Given the description of an element on the screen output the (x, y) to click on. 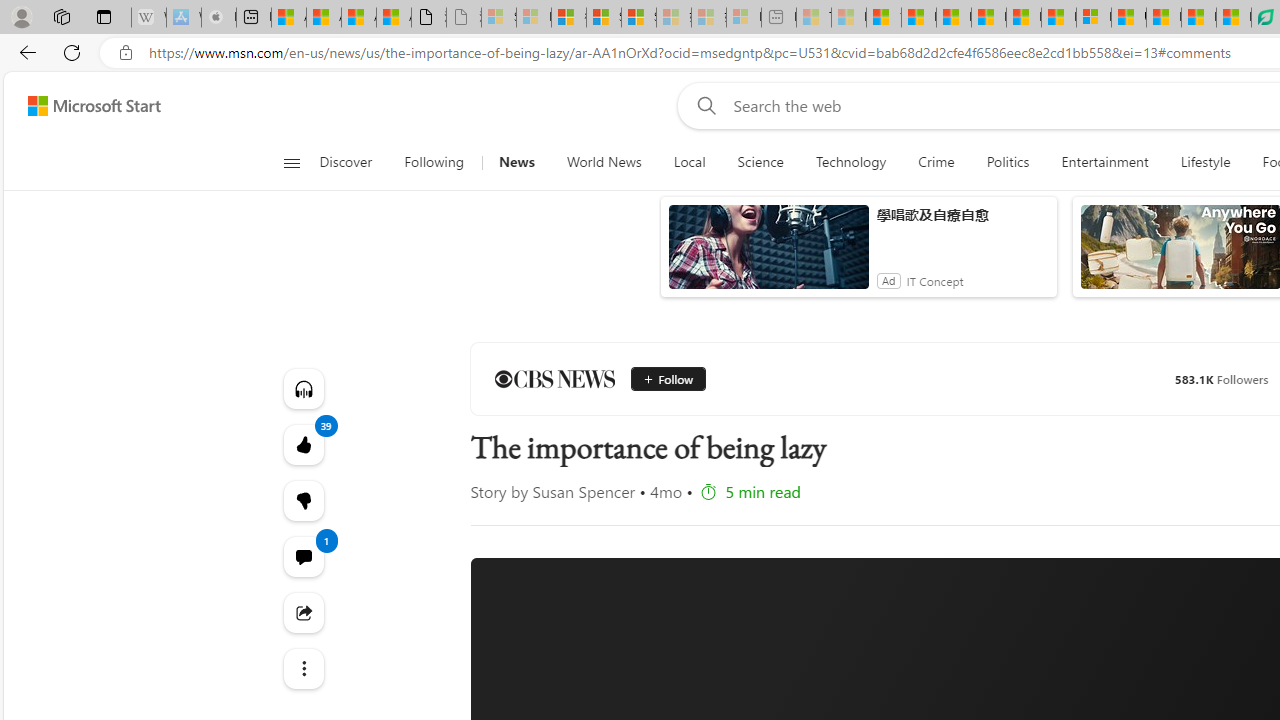
Aberdeen, Hong Kong SAR weather forecast | Microsoft Weather (323, 17)
Buy iPad - Apple - Sleeping (218, 17)
Marine life - MSN - Sleeping (849, 17)
Listen to this article (302, 388)
